Given the description of an element on the screen output the (x, y) to click on. 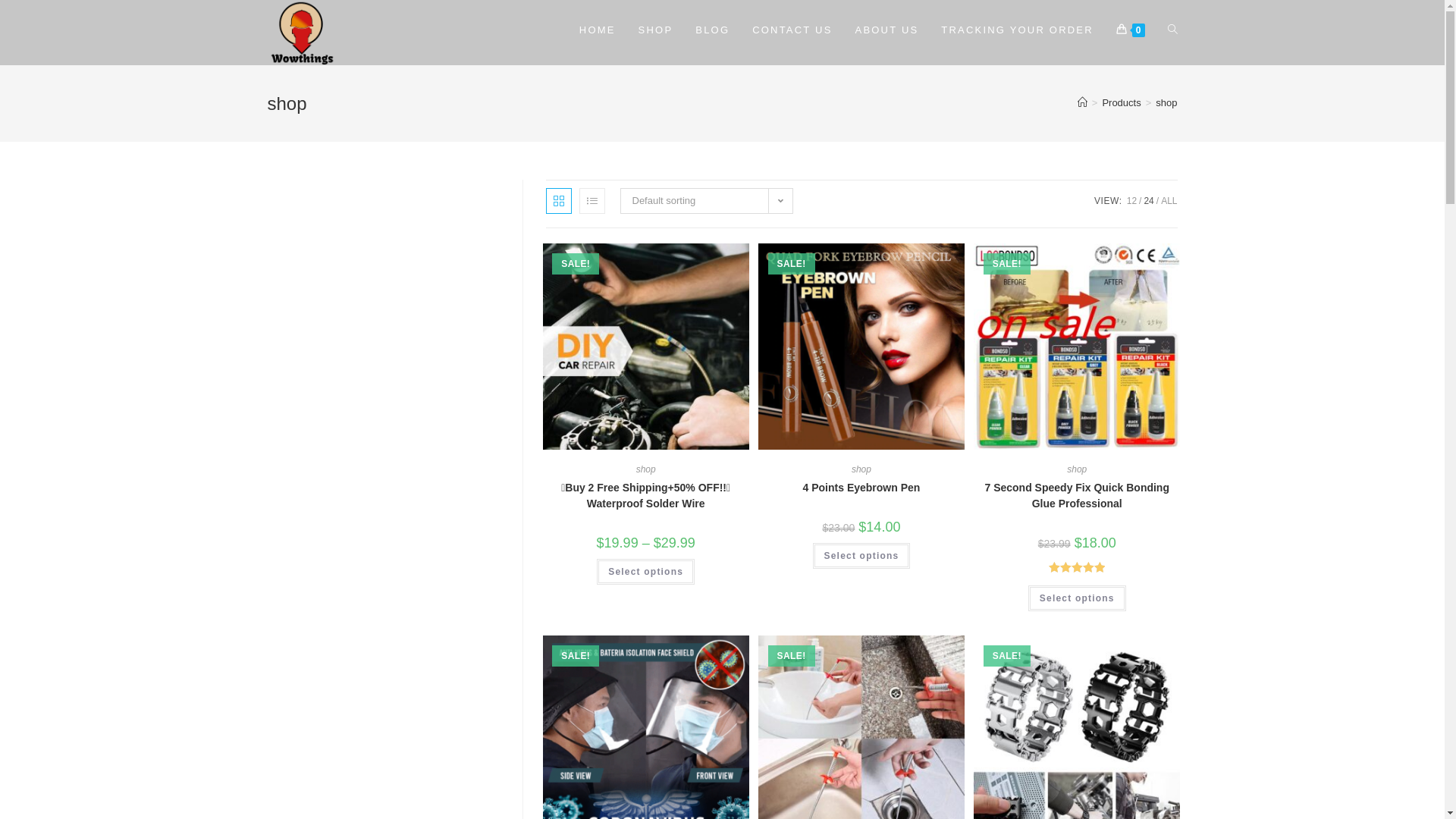
shop Element type: text (861, 469)
24 Element type: text (1148, 200)
BLOG Element type: text (712, 29)
7 Second Speedy Fix Quick Bonding Glue Professional Element type: text (1076, 495)
Select options Element type: text (861, 555)
CONTACT US Element type: text (791, 29)
ABOUT US Element type: text (887, 29)
4 Points Eyebrown Pen Element type: text (861, 487)
Products Element type: text (1120, 102)
HOME Element type: text (597, 29)
Select options Element type: text (1077, 598)
TOGGLE WEBSITE SEARCH Element type: text (1171, 29)
Grid view Element type: hover (558, 200)
TRACKING YOUR ORDER Element type: text (1016, 29)
shop Element type: text (1076, 469)
shop Element type: text (645, 469)
List view Element type: hover (592, 200)
ALL Element type: text (1168, 200)
SHOP Element type: text (655, 29)
shop Element type: text (1165, 102)
Select options Element type: text (645, 571)
0 Element type: text (1130, 29)
12 Element type: text (1131, 200)
